Given the description of an element on the screen output the (x, y) to click on. 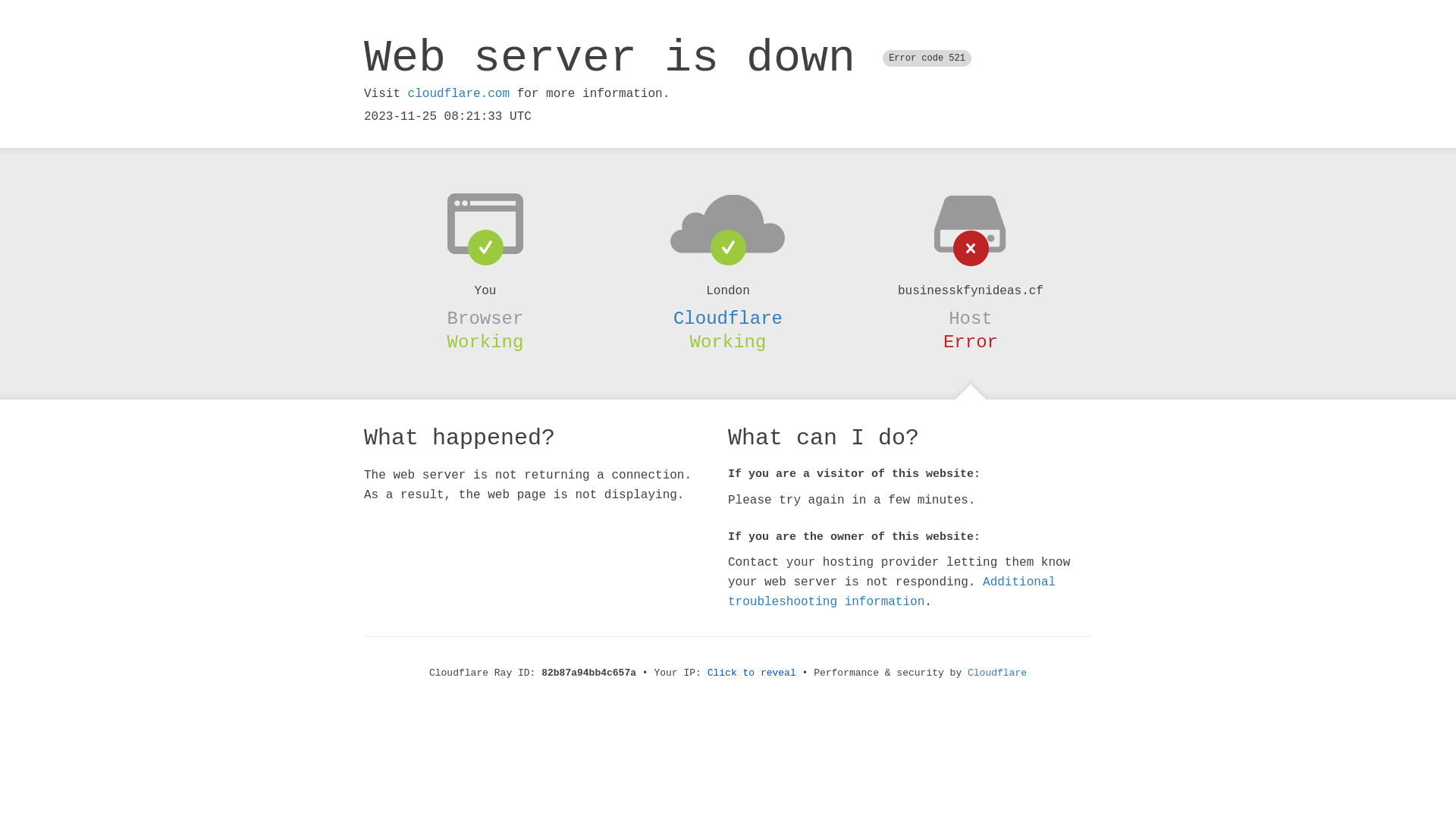
Additional troubleshooting information Element type: text (891, 591)
cloudflare.com Element type: text (458, 93)
Cloudflare Element type: text (727, 318)
Click to reveal Element type: text (751, 672)
Cloudflare Element type: text (996, 672)
